Given the description of an element on the screen output the (x, y) to click on. 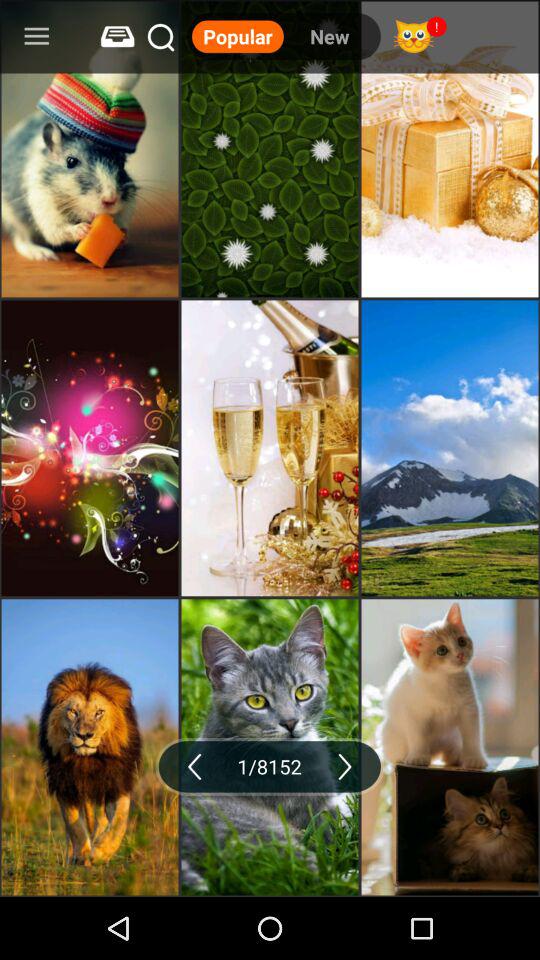
open the popular icon (237, 36)
